Given the description of an element on the screen output the (x, y) to click on. 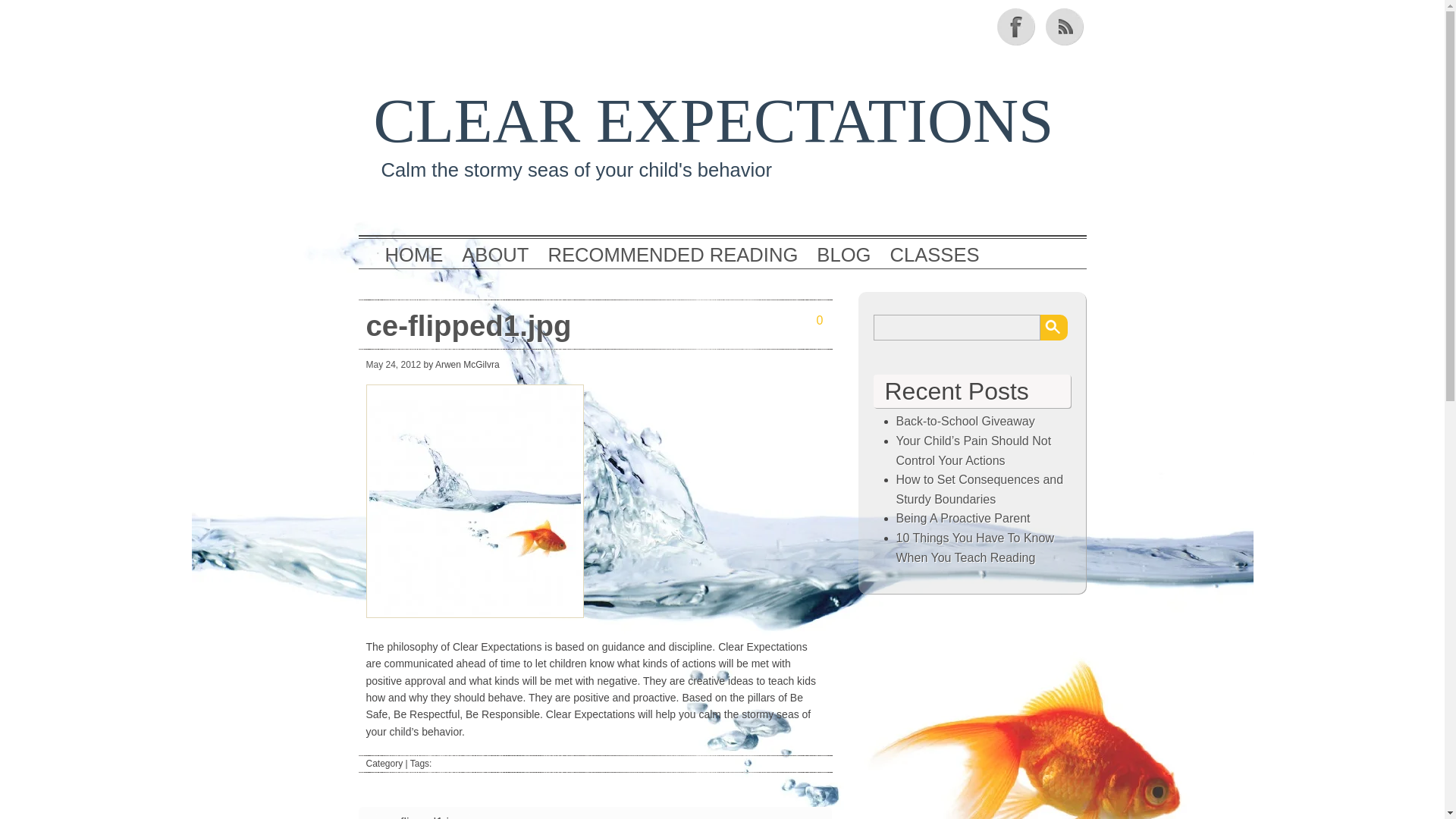
HOME (414, 255)
BLOG (843, 255)
Back-to-School Giveaway (965, 420)
May 24, 2012 (392, 364)
RSS Feed (1065, 26)
Facebook (1015, 26)
ce-flipped1.jpg (524, 325)
Search (1054, 327)
ce-flipped1.jpg (422, 815)
CLASSES (933, 255)
